Given the description of an element on the screen output the (x, y) to click on. 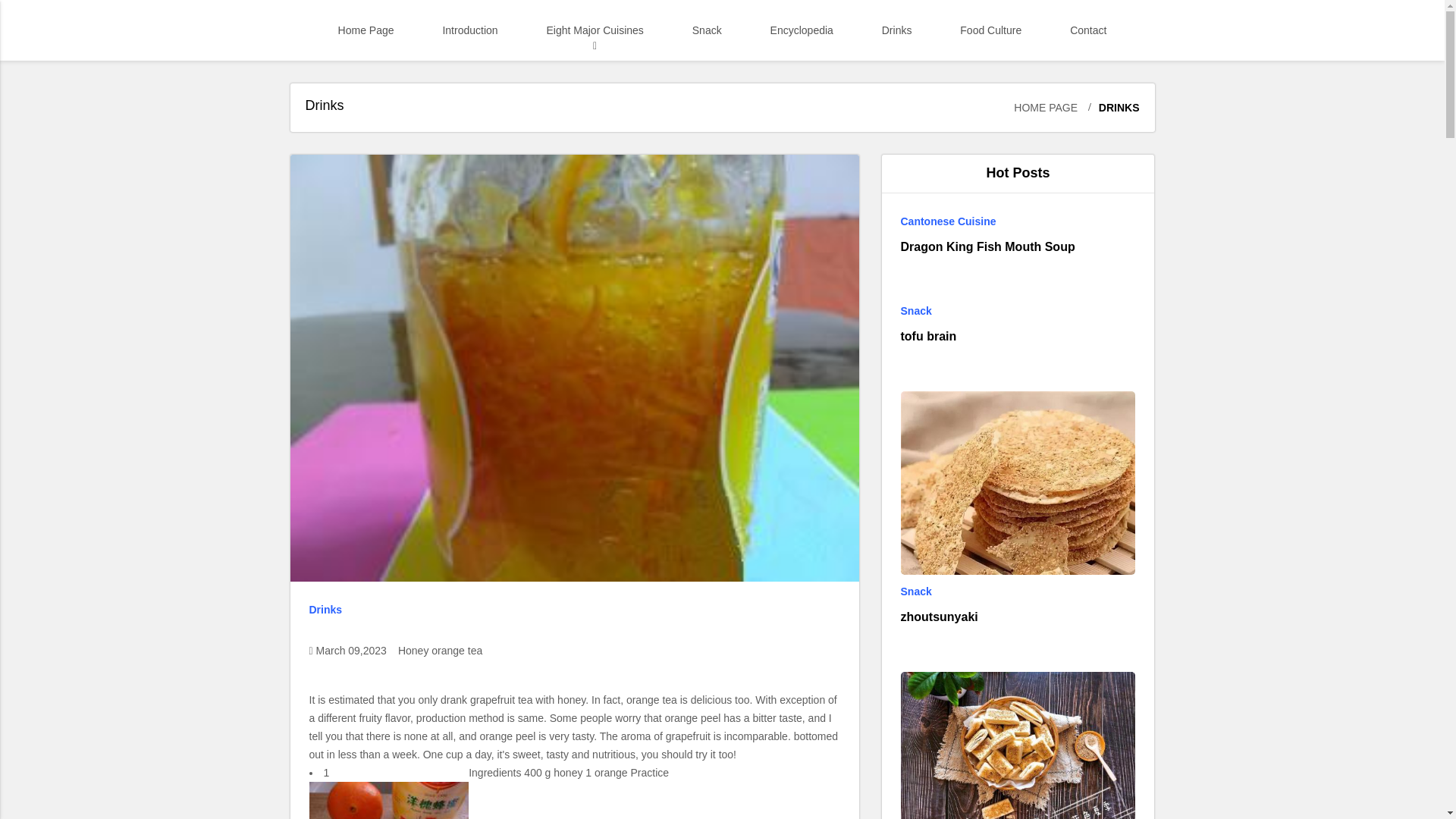
Encyclopedia (802, 30)
Cantonese Cuisine (1018, 221)
Eight Major Cuisines (593, 30)
Shandong Cuisine (598, 75)
Home Page (365, 30)
HOME PAGE (1045, 107)
Introduction (469, 30)
Drinks (574, 609)
DRINKS (1110, 107)
Drinks (896, 30)
